Given the description of an element on the screen output the (x, y) to click on. 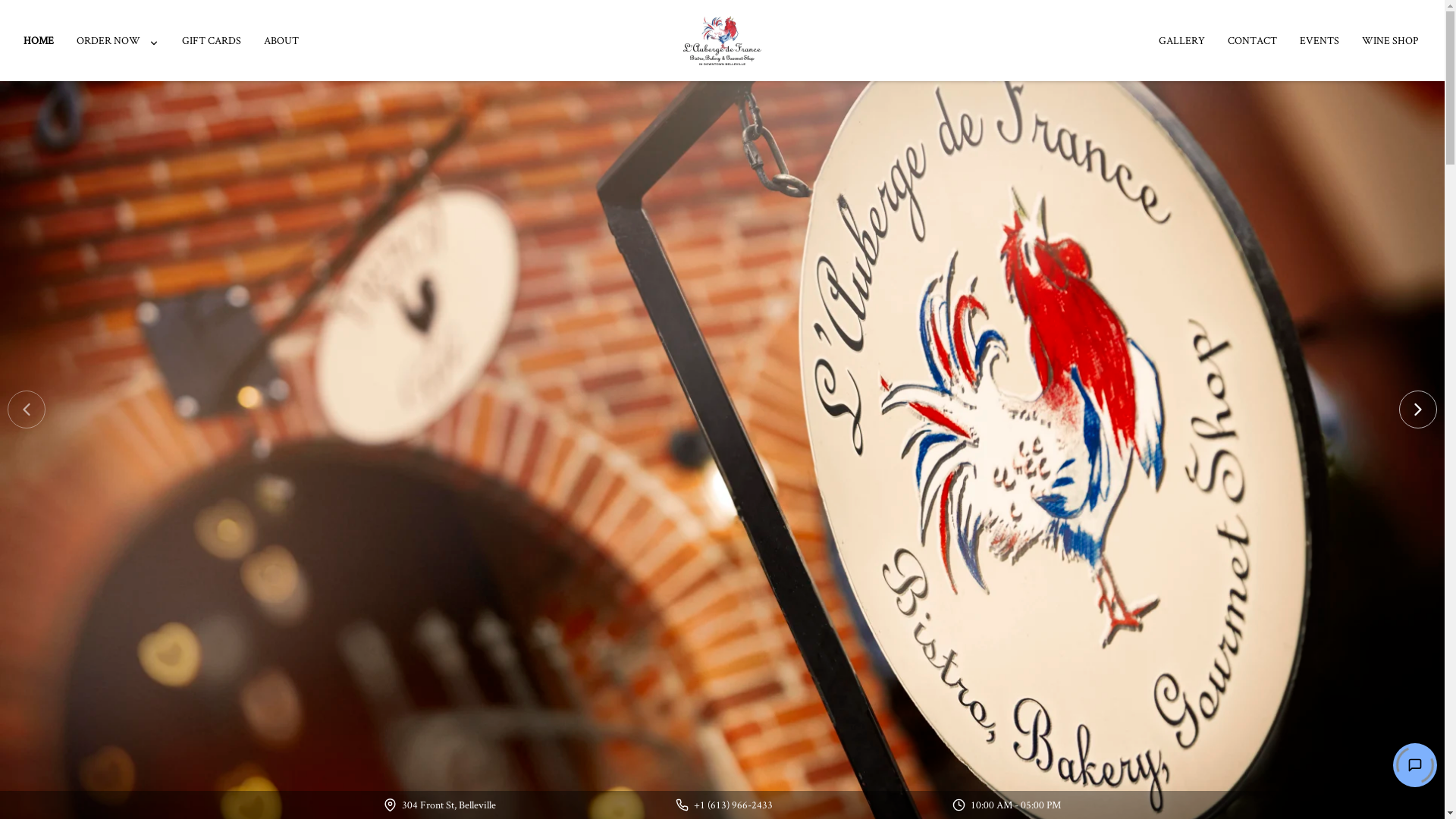
ORDER NOW Element type: text (117, 40)
304 Front St, Belleville Element type: text (448, 804)
ABOUT Element type: text (281, 40)
CONTACT Element type: text (1252, 40)
Next Element type: text (1418, 409)
Previous Element type: text (26, 409)
EVENTS Element type: text (1319, 40)
HOME Element type: text (38, 40)
WINE SHOP Element type: text (1389, 40)
Time
10:00 AM - 05:00 PM Element type: text (1006, 804)
GALLERY Element type: text (1181, 40)
+1 (613) 966-2433 Element type: text (732, 804)
GIFT CARDS Element type: text (211, 40)
